Given the description of an element on the screen output the (x, y) to click on. 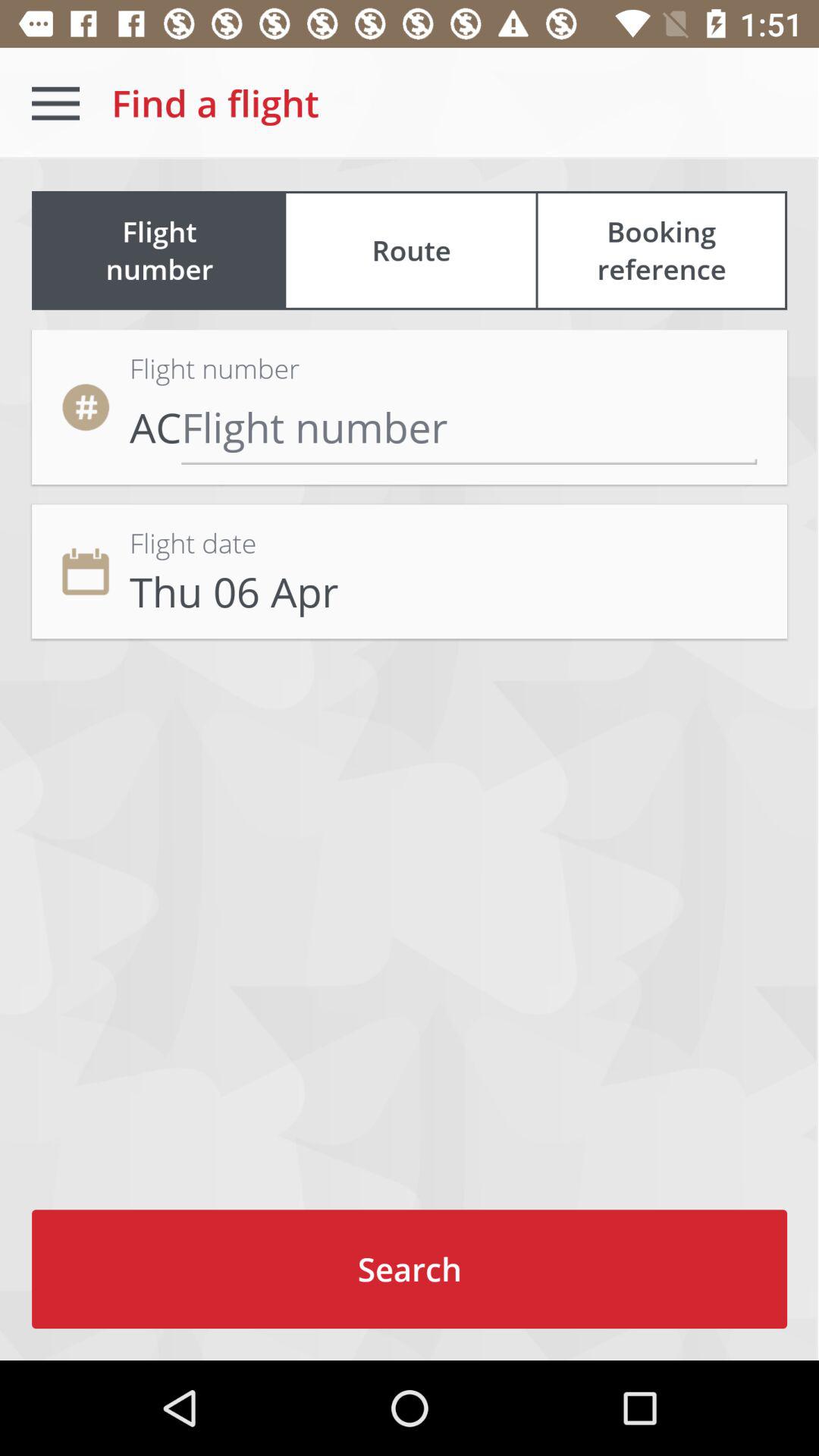
click the item below the find a flight (411, 250)
